Given the description of an element on the screen output the (x, y) to click on. 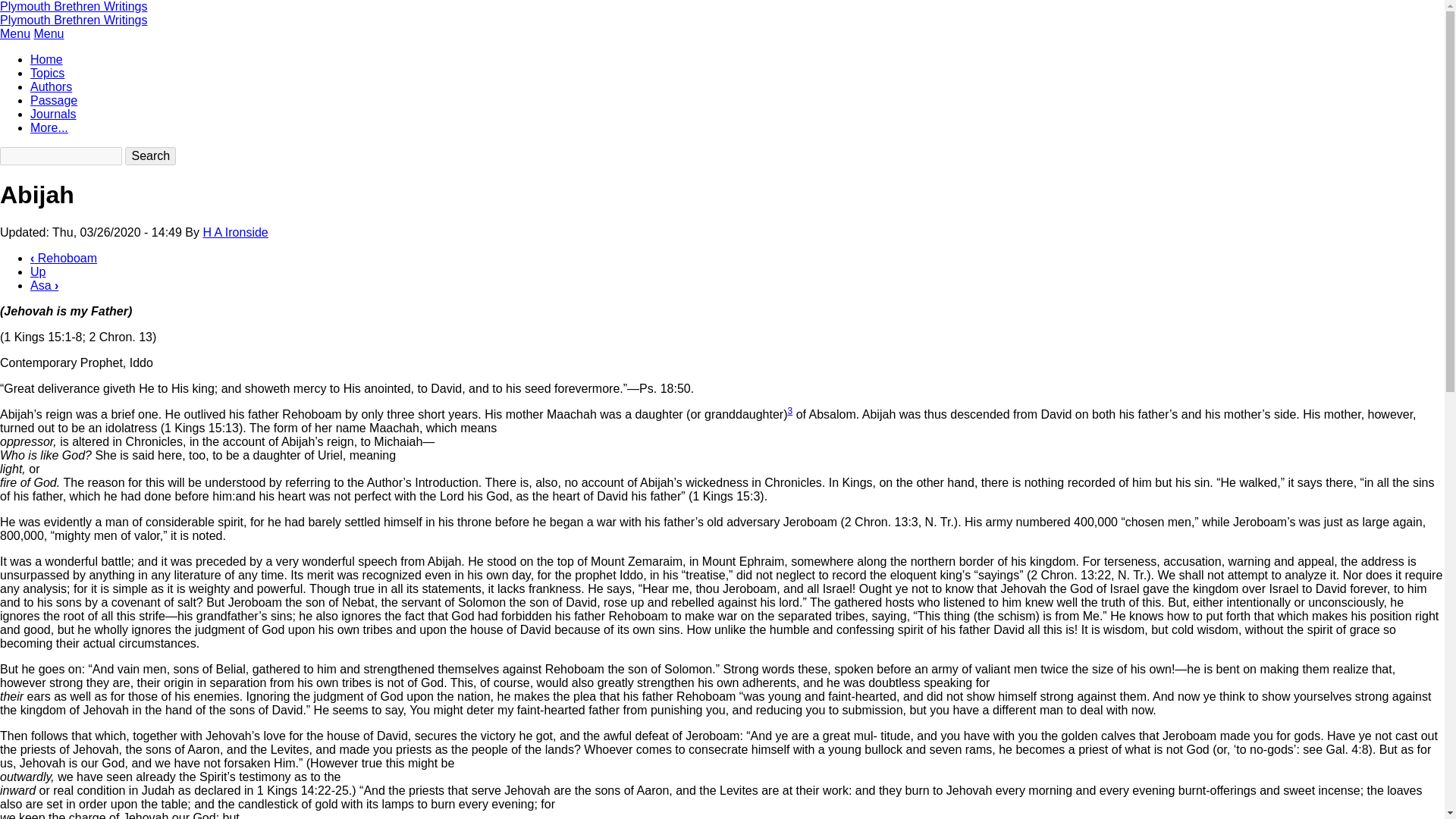
Up (37, 271)
Journals (52, 113)
Plymouth Brethren Writings (73, 6)
Go to next page (44, 285)
Menu (15, 33)
Plymouth Brethren Writings (73, 19)
Home (73, 19)
Authors (50, 86)
Passage (53, 100)
Enter the terms you wish to search for. (61, 156)
Home (73, 6)
Topics (47, 72)
Go to parent page (37, 271)
Go to previous page (63, 257)
View user profile. (234, 232)
